Given the description of an element on the screen output the (x, y) to click on. 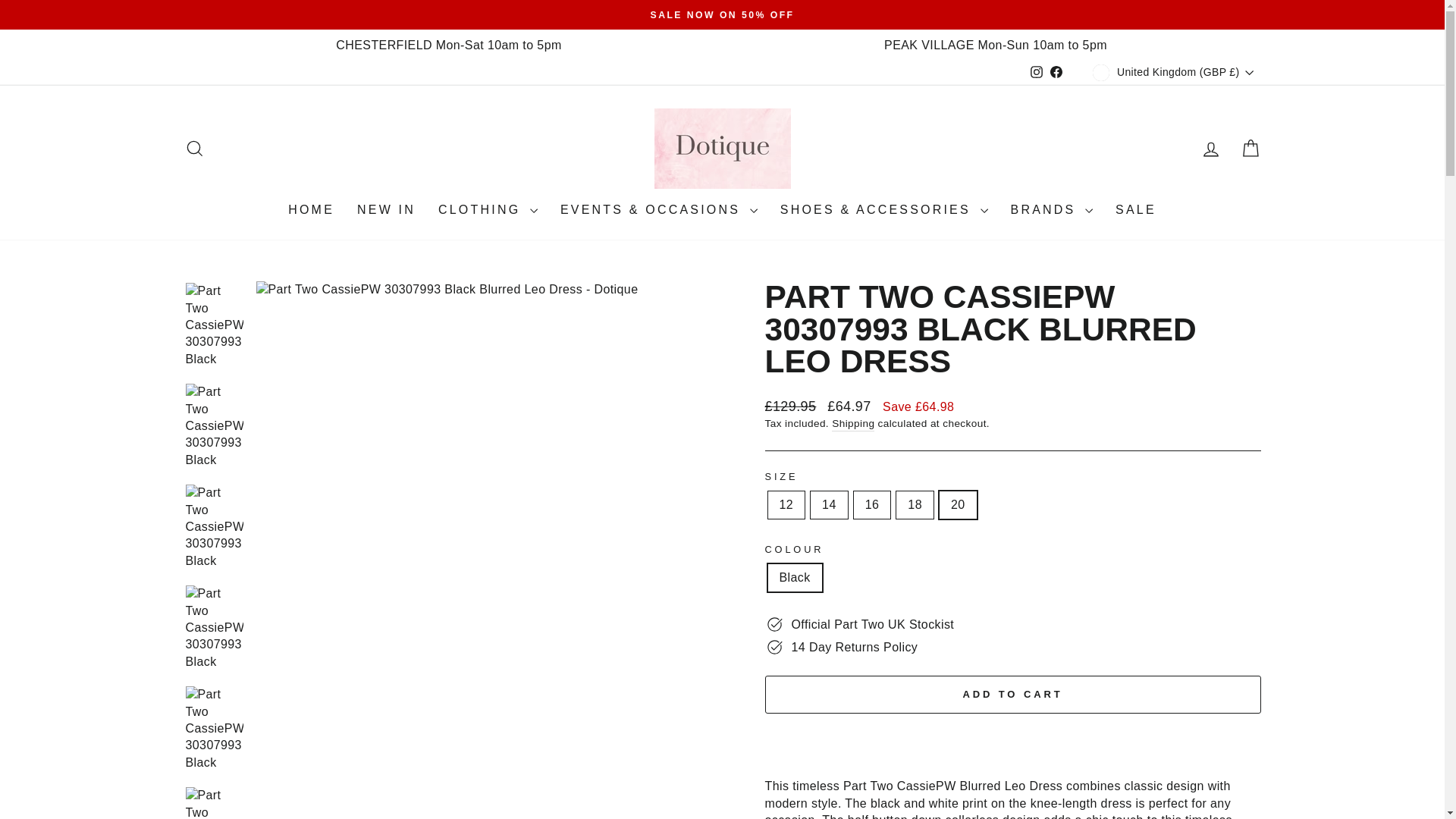
Dotique  on Facebook (1055, 72)
ACCOUNT (1210, 148)
ICON-SEARCH (194, 148)
Dotique  on Instagram (1036, 72)
